Given the description of an element on the screen output the (x, y) to click on. 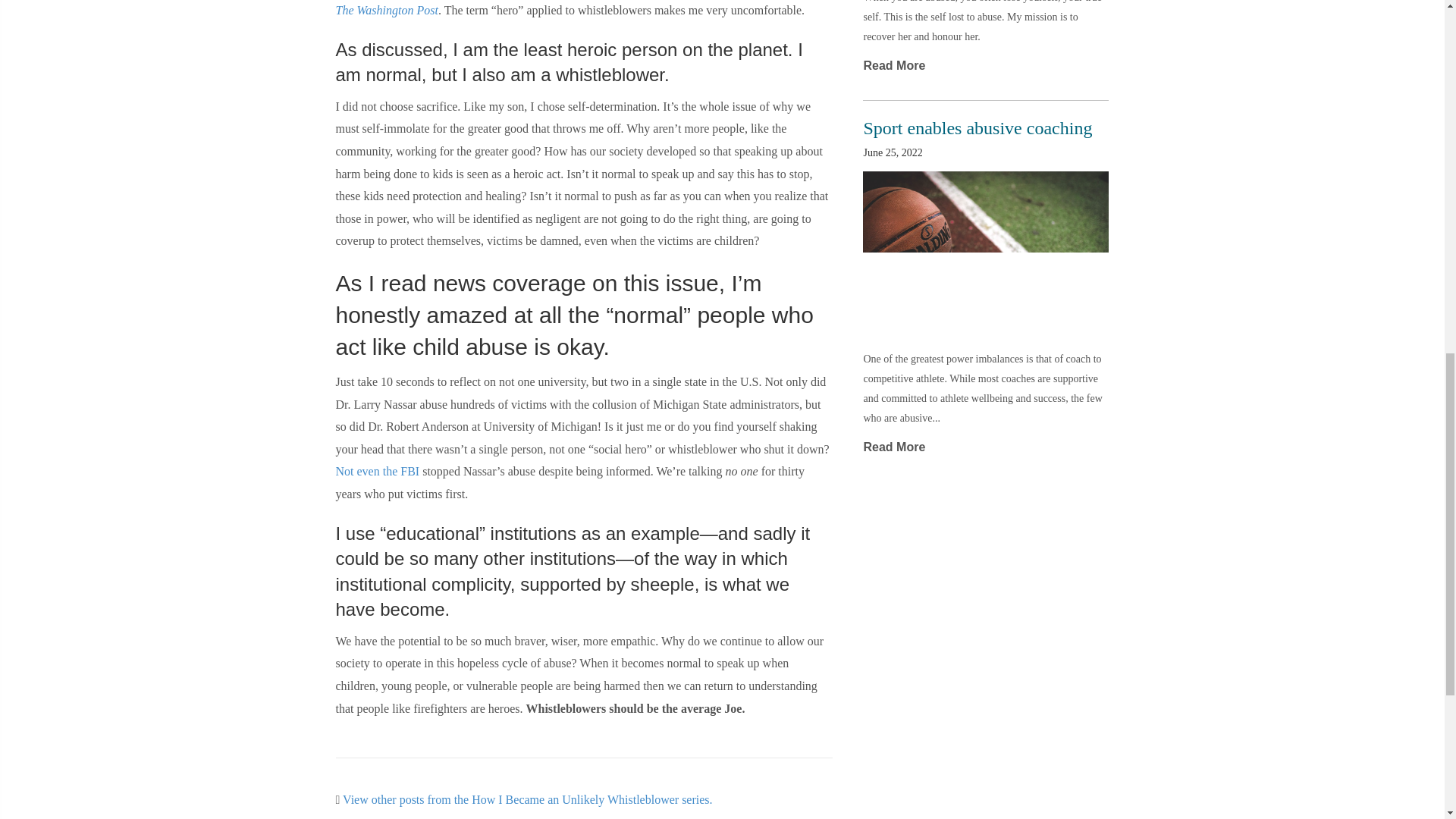
Read More (893, 446)
Sport enables abusive coaching (977, 127)
Read More (893, 65)
Sport enables abusive coaching (977, 127)
Not even the FBI (376, 471)
Read More (893, 65)
Read More (893, 446)
Sport enables abusive coaching (985, 250)
